Given the description of an element on the screen output the (x, y) to click on. 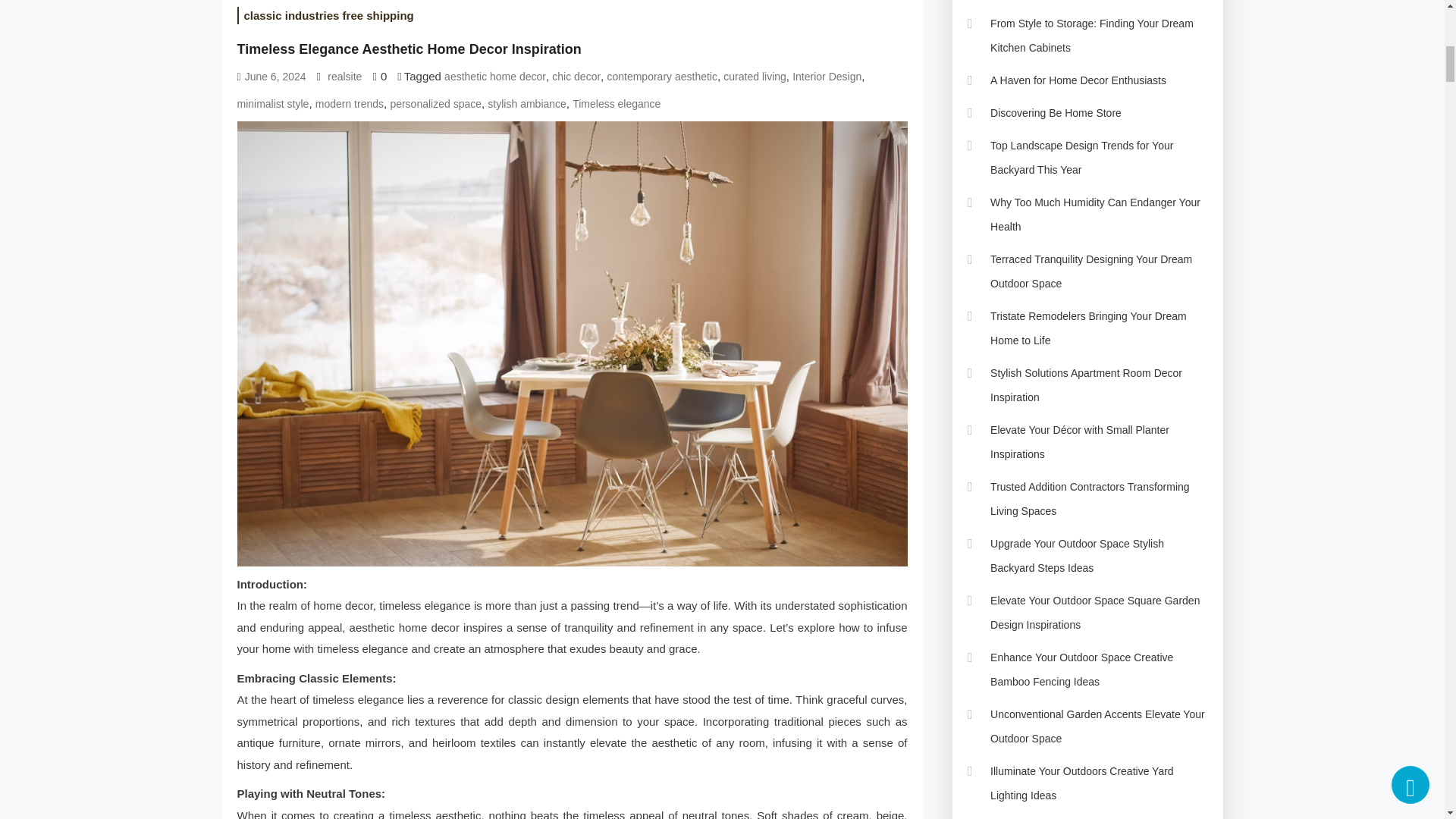
realsite (344, 76)
Timeless Elegance Aesthetic Home Decor Inspiration (407, 48)
June 6, 2024 (274, 76)
classic industries free shipping (327, 15)
aesthetic home decor (495, 76)
